Given the description of an element on the screen output the (x, y) to click on. 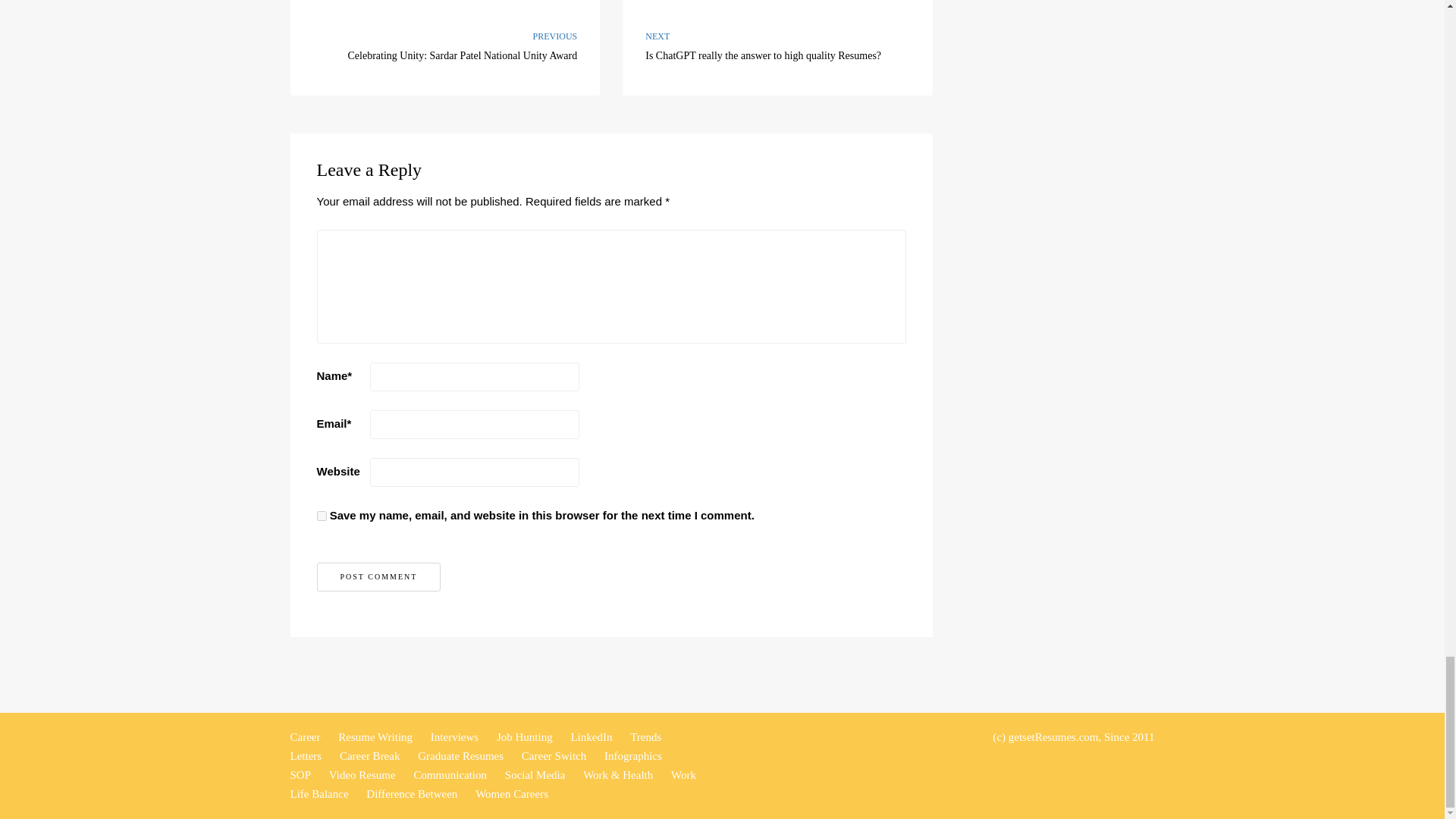
yes (321, 515)
Post comment (379, 576)
Post comment (778, 47)
